Given the description of an element on the screen output the (x, y) to click on. 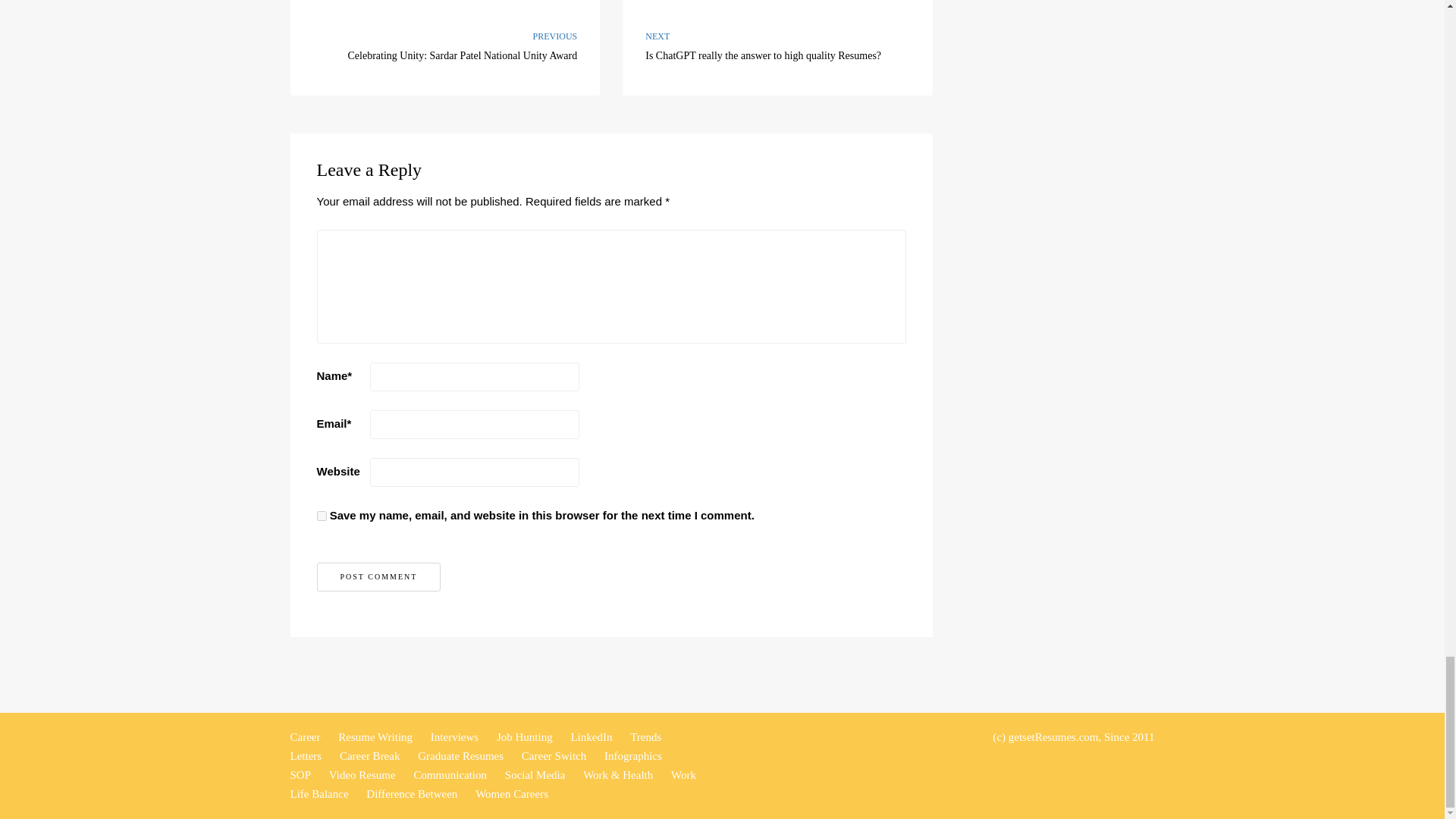
yes (321, 515)
Post comment (379, 576)
Post comment (778, 47)
